Given the description of an element on the screen output the (x, y) to click on. 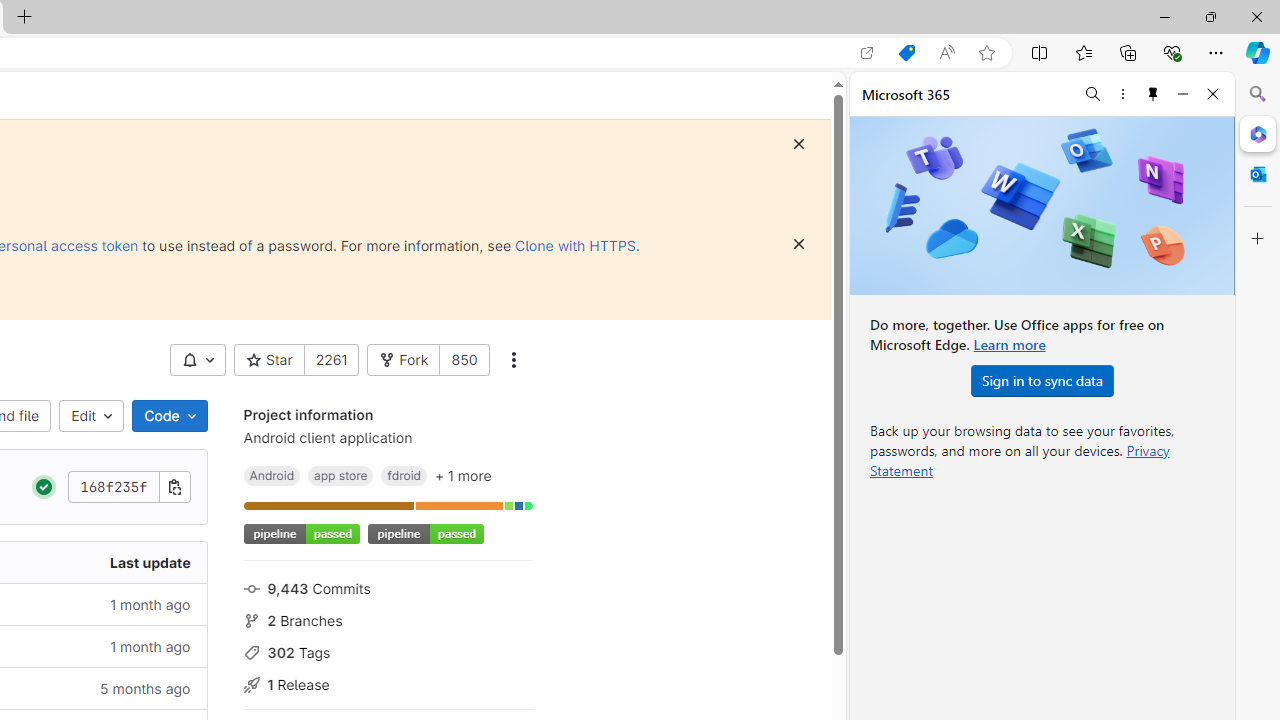
Pipeline: Passed (44, 487)
2 Branches (387, 619)
302 Tags (387, 651)
9,443 Commits (387, 587)
Privacy Statement (1019, 460)
302 Tags (387, 651)
Open in app (867, 53)
